Given the description of an element on the screen output the (x, y) to click on. 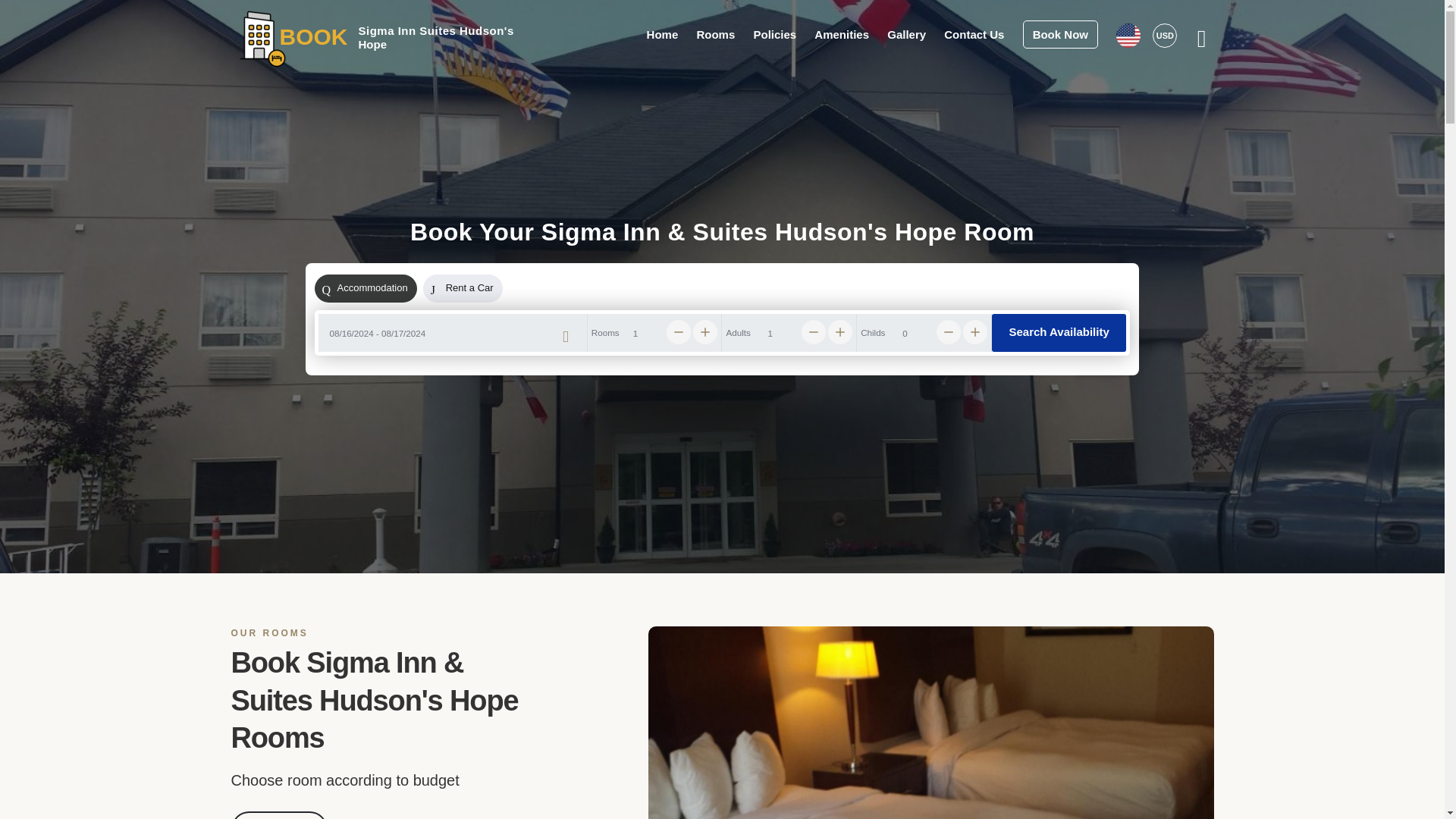
Policies (774, 33)
Home (662, 33)
Amenities (841, 33)
Book Now (278, 815)
USD (1164, 35)
1 (655, 332)
Contact Us (973, 33)
1 (789, 332)
Search Availability (1058, 332)
0 (924, 332)
